Given the description of an element on the screen output the (x, y) to click on. 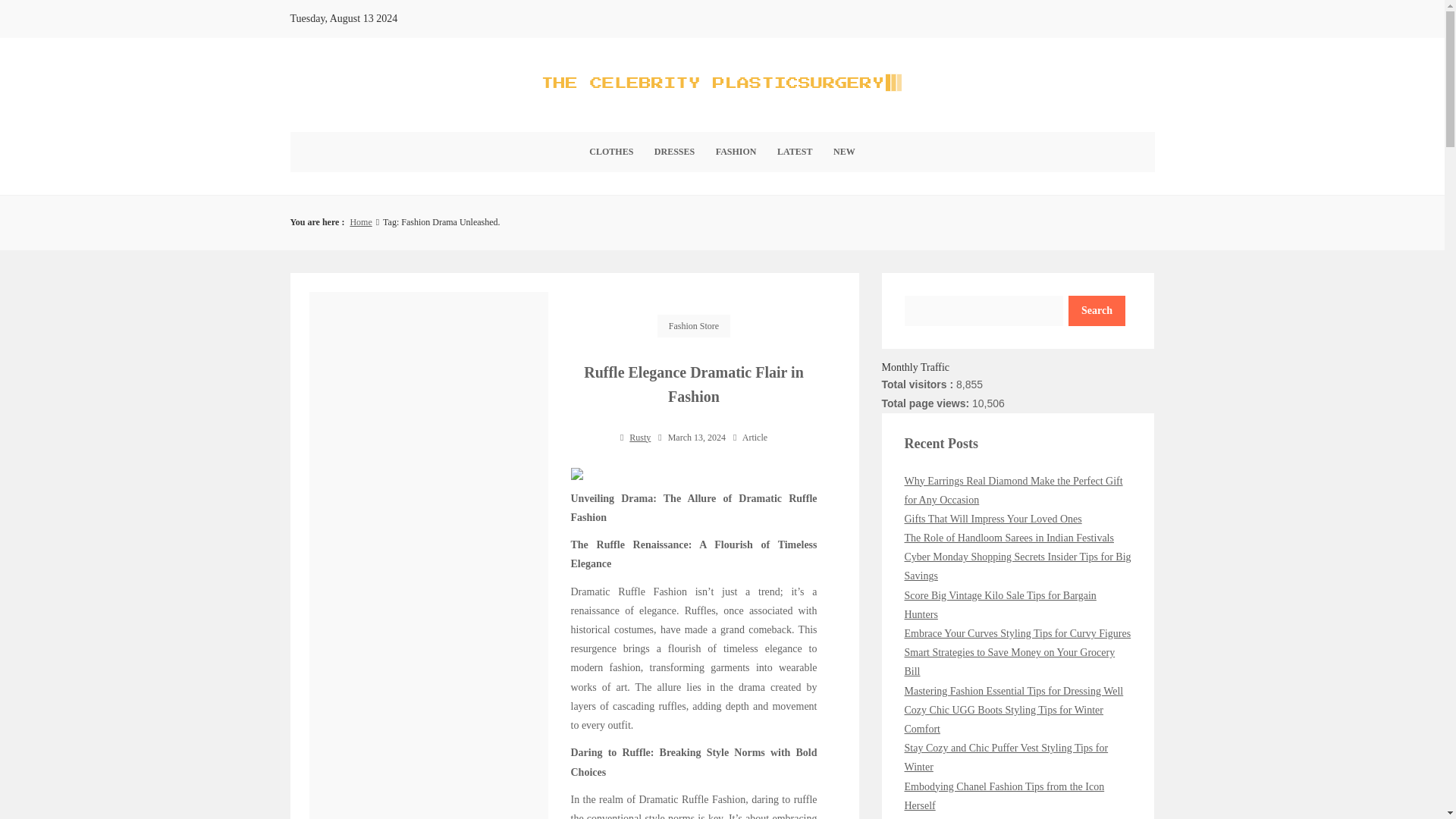
CLOTHES (610, 151)
DRESSES (674, 151)
Posts by Rusty (639, 437)
Search (1096, 310)
